Given the description of an element on the screen output the (x, y) to click on. 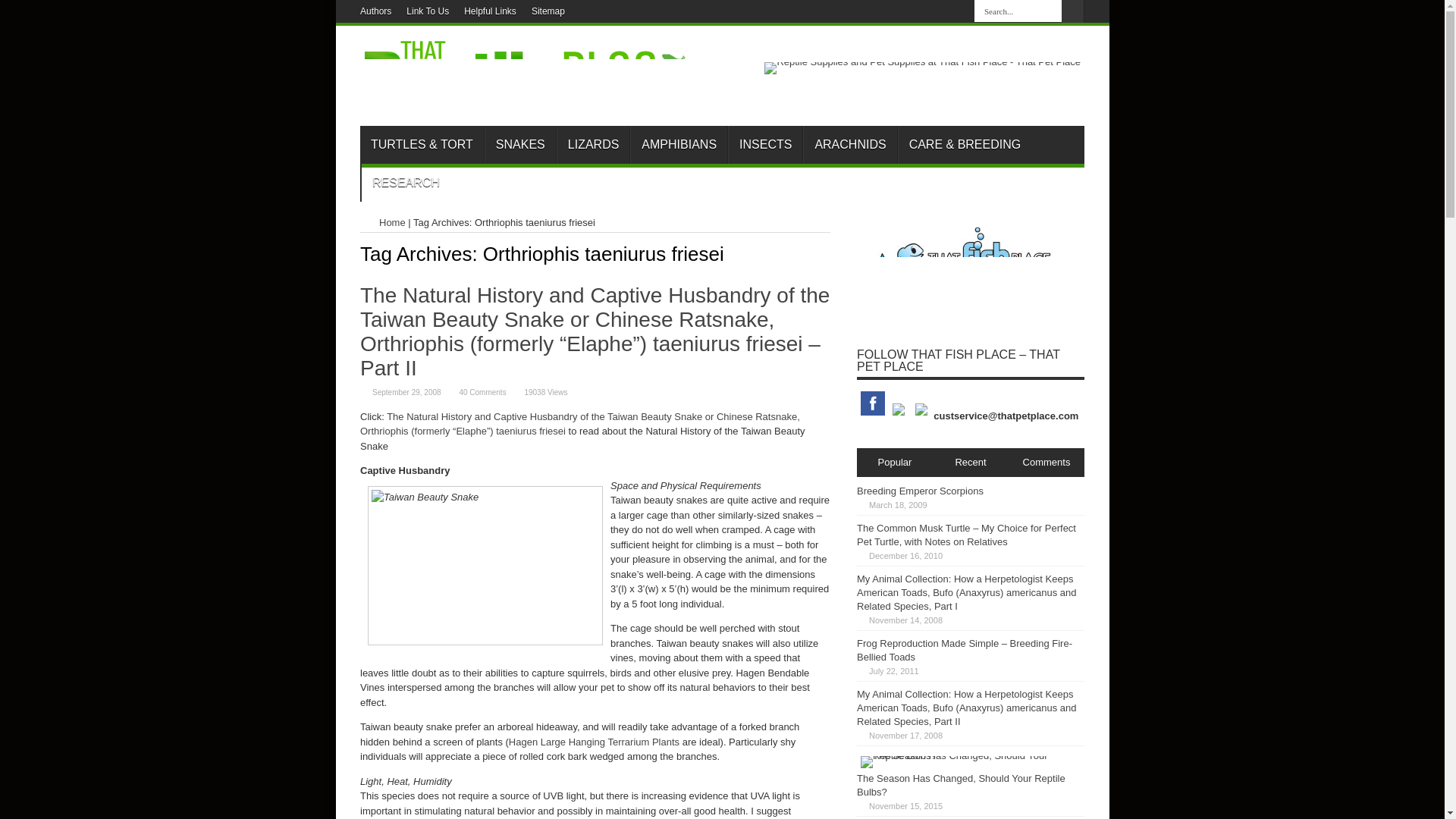
INSECTS (765, 144)
That Reptile Blog (536, 103)
Search... (1017, 11)
ARACHNIDS (849, 144)
Youtube (957, 10)
Search (1072, 11)
Twitter (921, 10)
Link To Us (427, 11)
Search (1072, 11)
